Given the description of an element on the screen output the (x, y) to click on. 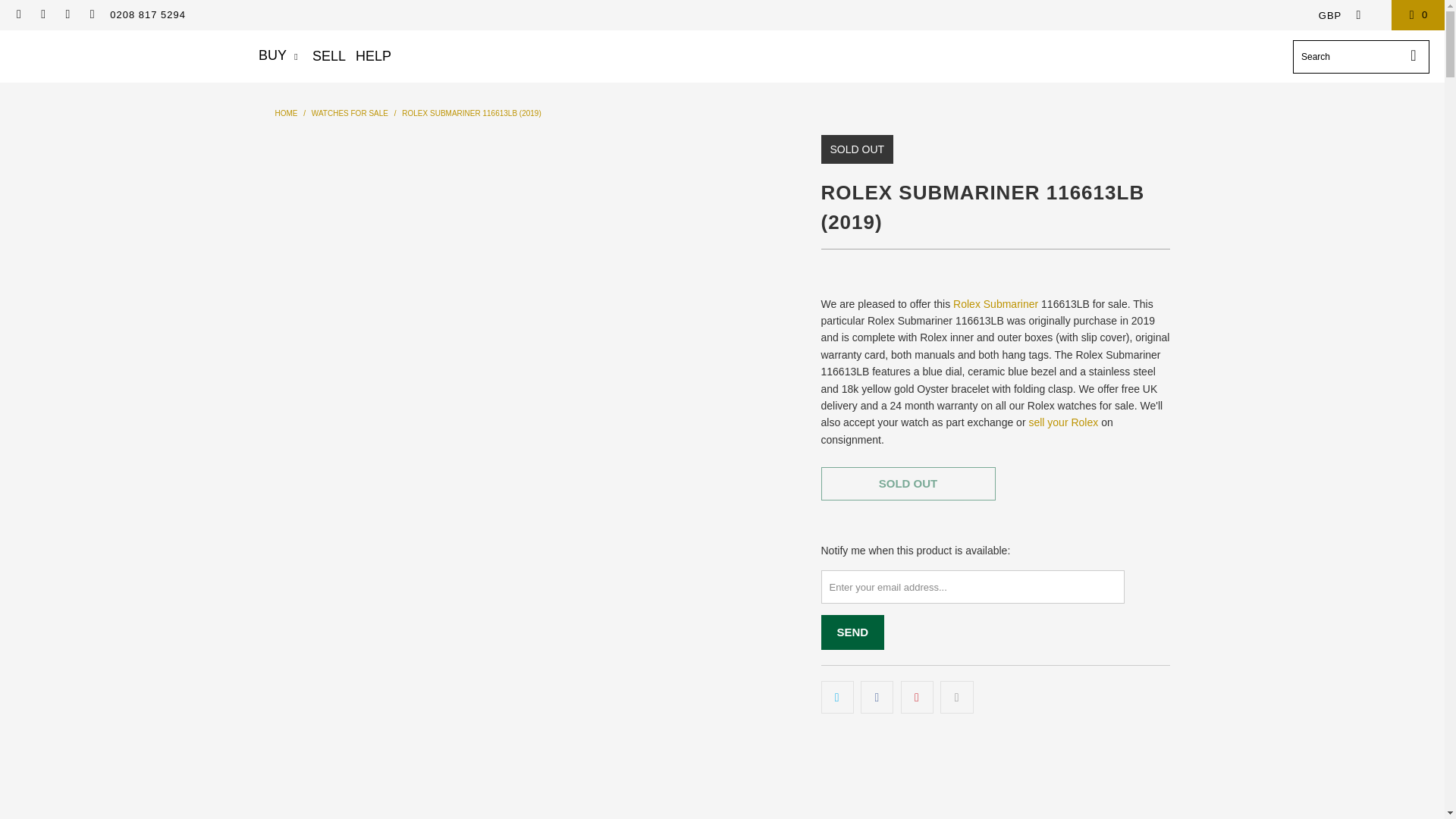
Swiss Watch Trader  on Instagram (67, 14)
Swiss Watch Trader  on Facebook (41, 14)
Email Swiss Watch Trader  (17, 14)
Swiss Watch Trader  on YouTube (91, 14)
Send (852, 632)
Share this on Facebook (876, 696)
Share this on Twitter (837, 696)
Sell My Rolex (1062, 422)
WATCHES FOR SALE (349, 112)
Rolex Submariner for Sale (995, 304)
Email this to a friend (956, 696)
Swiss Watch Trader  (286, 112)
Share this on Pinterest (917, 696)
